Given the description of an element on the screen output the (x, y) to click on. 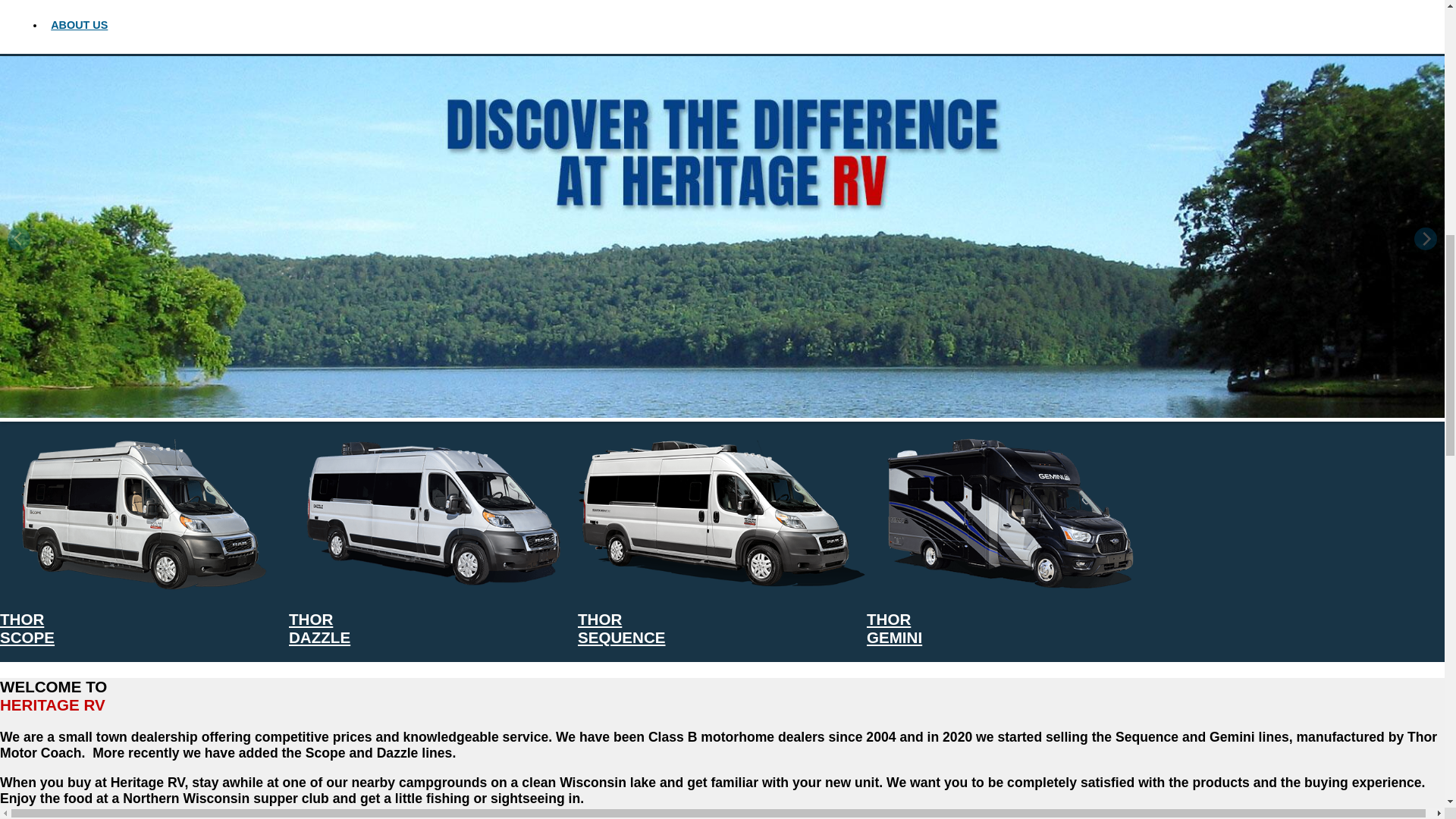
Thor Sequence (621, 628)
Thor Scope (27, 628)
Thor Dazzle (319, 628)
HERITAGE CHEVROLET (114, 3)
Thor Gemini (1011, 585)
Thor Sequence (722, 585)
Thor Dazzle (433, 585)
Thor Dazzle Class B Motorhome (433, 512)
Thor Scope Class B (144, 512)
Thor Scope (144, 585)
Thor Sequence Class B (722, 512)
ABOUT US (79, 24)
Thor Gemini (893, 628)
